Given the description of an element on the screen output the (x, y) to click on. 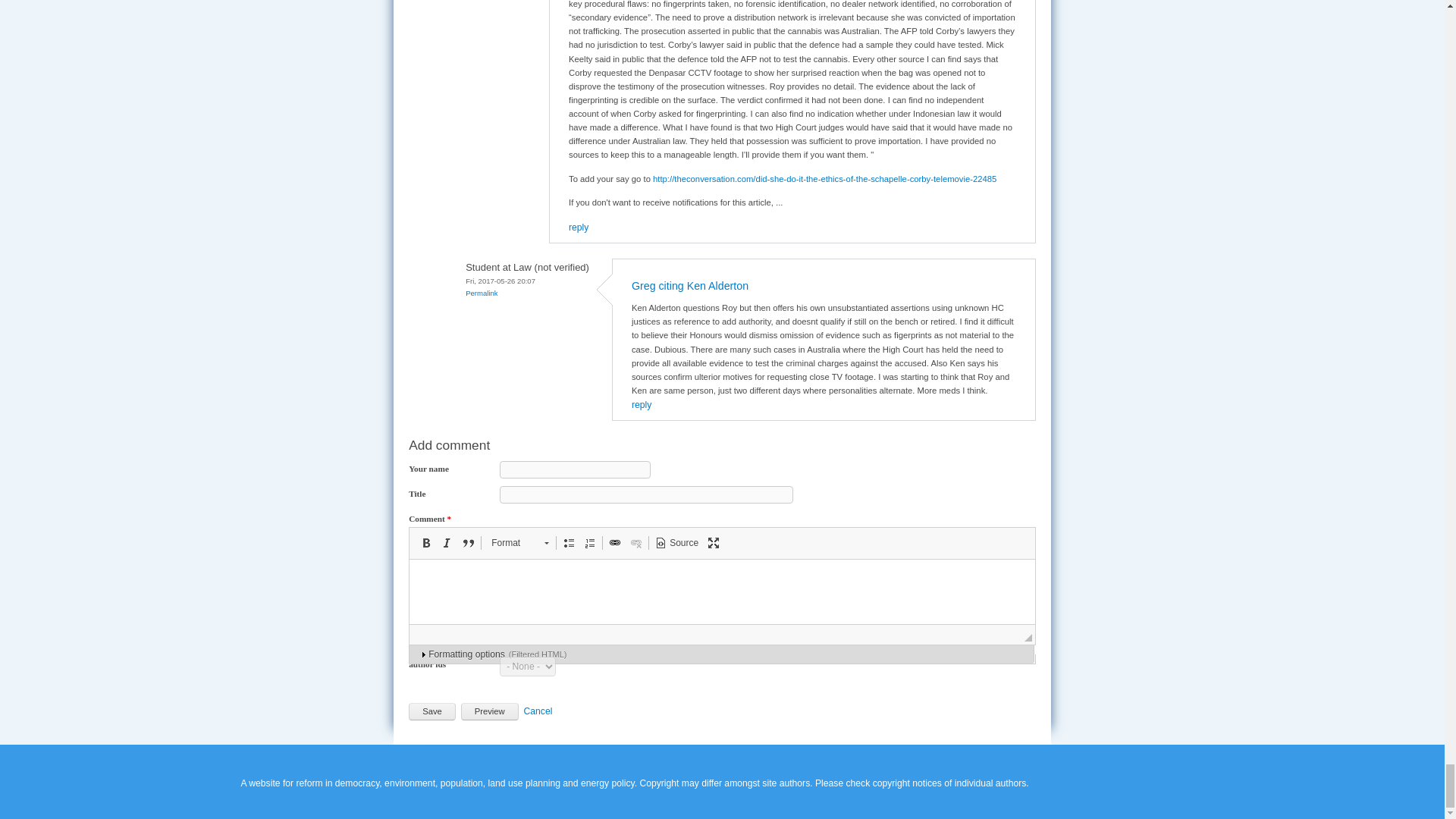
Maximize (713, 542)
Unlink (636, 542)
Preview (489, 711)
Block Quote (468, 542)
Source (676, 542)
Save (432, 711)
Paragraph Format (519, 542)
